Given the description of an element on the screen output the (x, y) to click on. 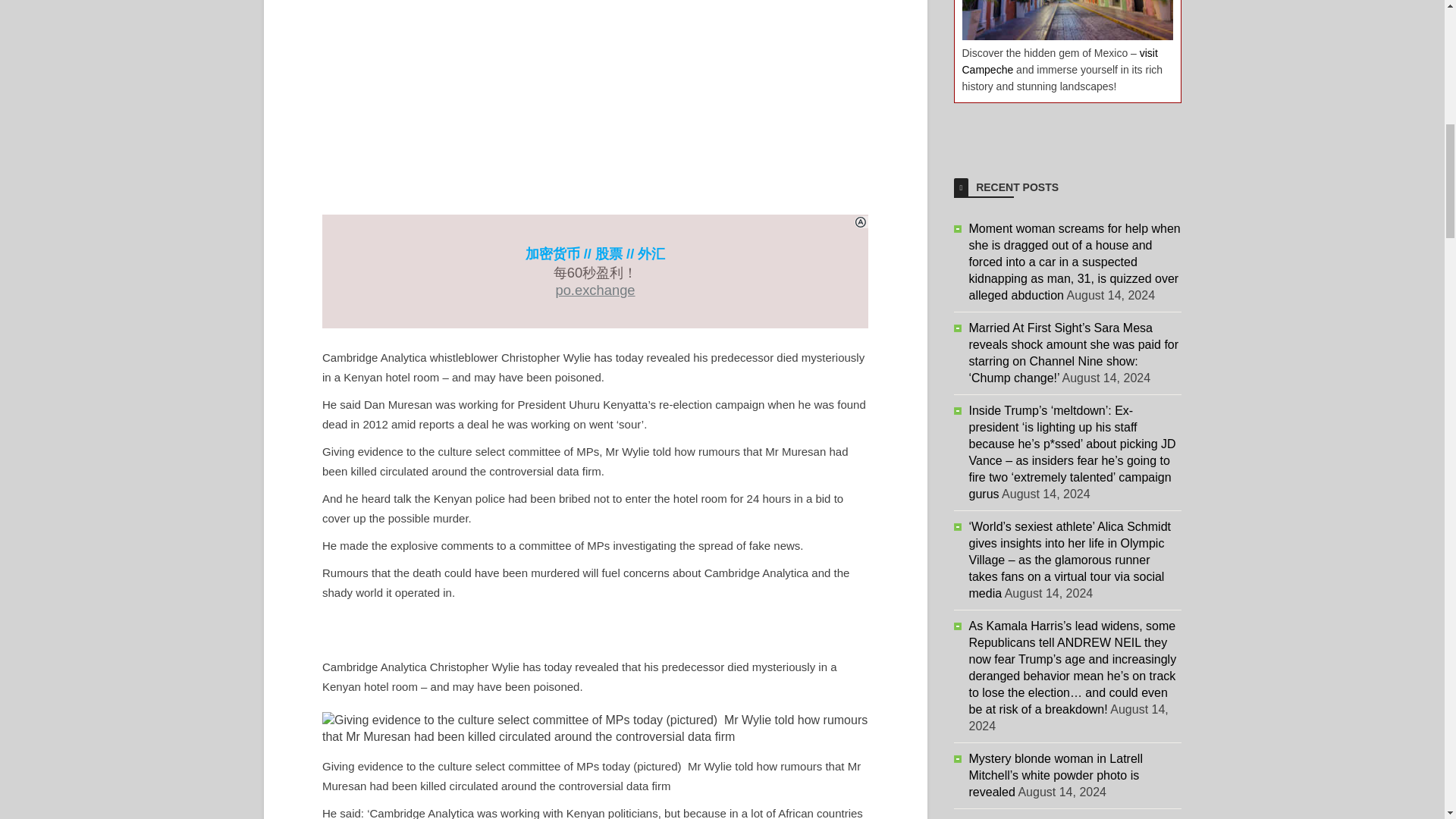
visit Campeche (1058, 61)
